Given the description of an element on the screen output the (x, y) to click on. 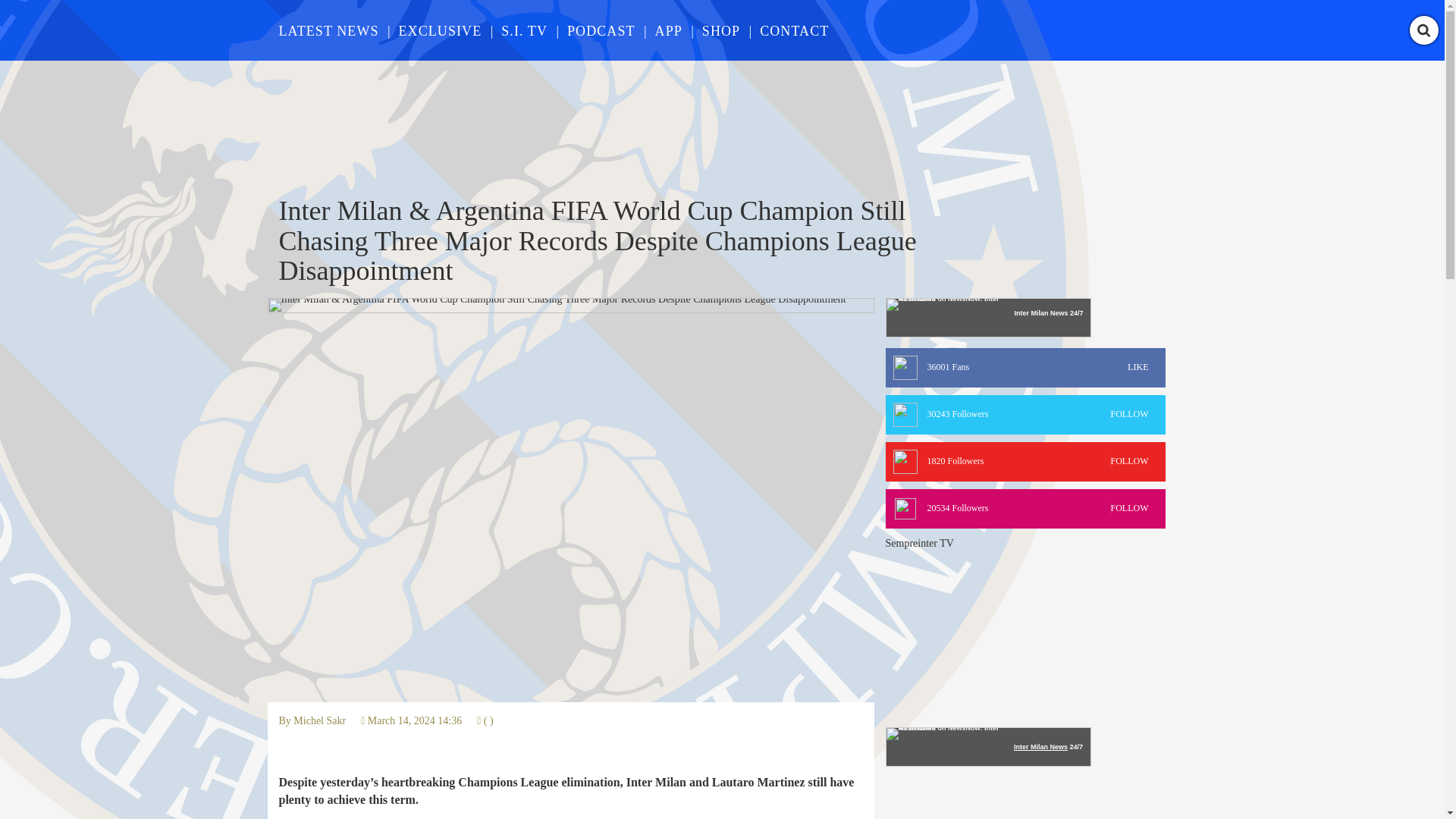
Inter Milan News (1040, 746)
PODCAST (600, 30)
SHOP (720, 30)
View more articles by Michel Sakr (320, 720)
Inter Milan News (1040, 312)
Michel Sakr (1025, 461)
LATEST NEWS (320, 720)
S.I. TV (1025, 367)
Click here for more Inter Milan News from NewsNow (328, 30)
CONTACT (1025, 508)
Click here for more Inter Milan News from NewsNow (523, 30)
